Given the description of an element on the screen output the (x, y) to click on. 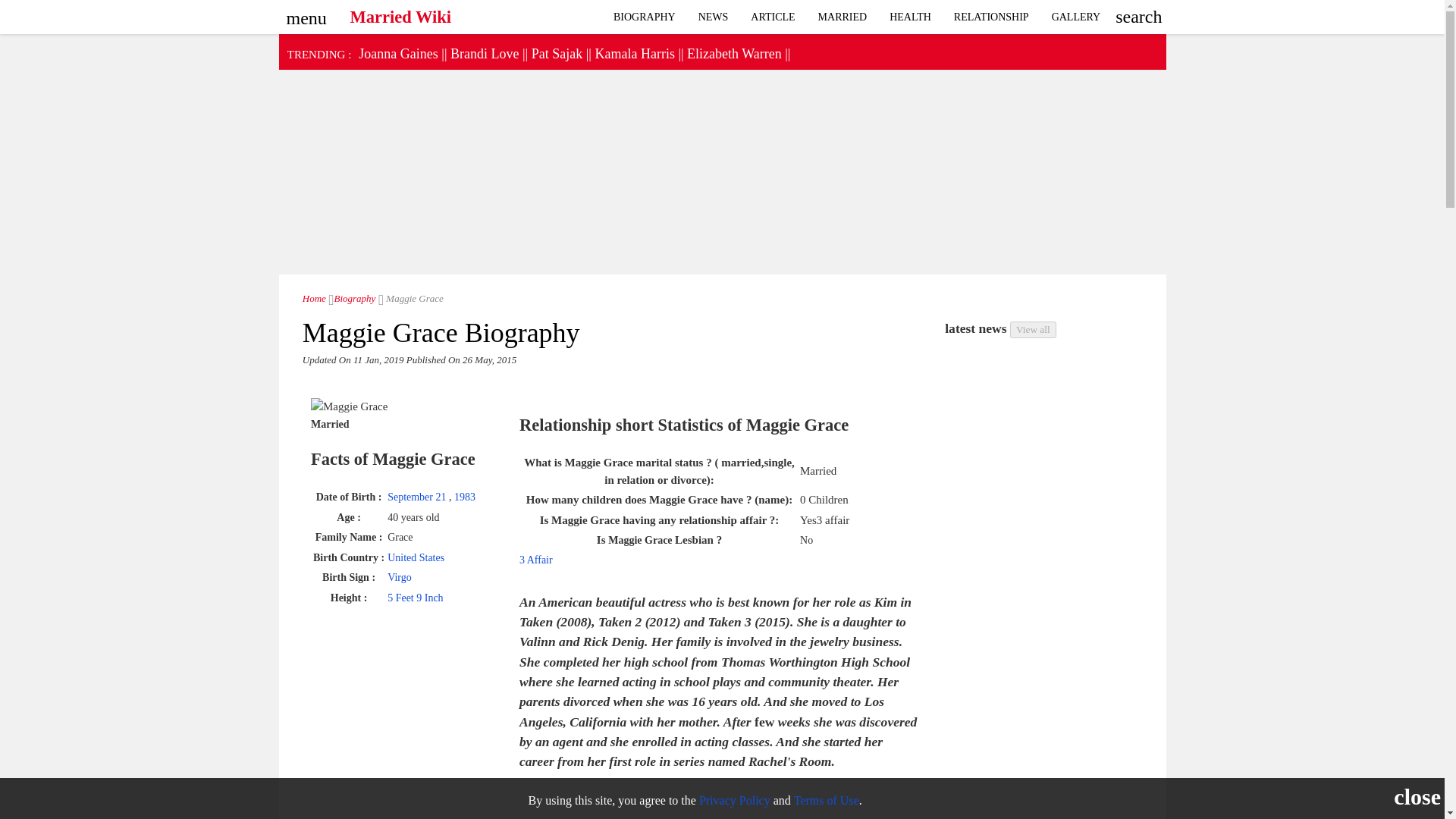
5 Feet 9 Inch (414, 597)
Biography (352, 297)
Privacy Policy (734, 799)
Relationship (991, 17)
Brandi Love (483, 53)
BIOGRAPHY (644, 17)
MARRIED (842, 17)
menu (302, 13)
HEALTH (909, 17)
September 21 (417, 496)
Brandi Love (483, 53)
Pat Sajak (557, 53)
Biography (644, 17)
Kamala Harris (634, 53)
Pat Sajak (557, 53)
